Given the description of an element on the screen output the (x, y) to click on. 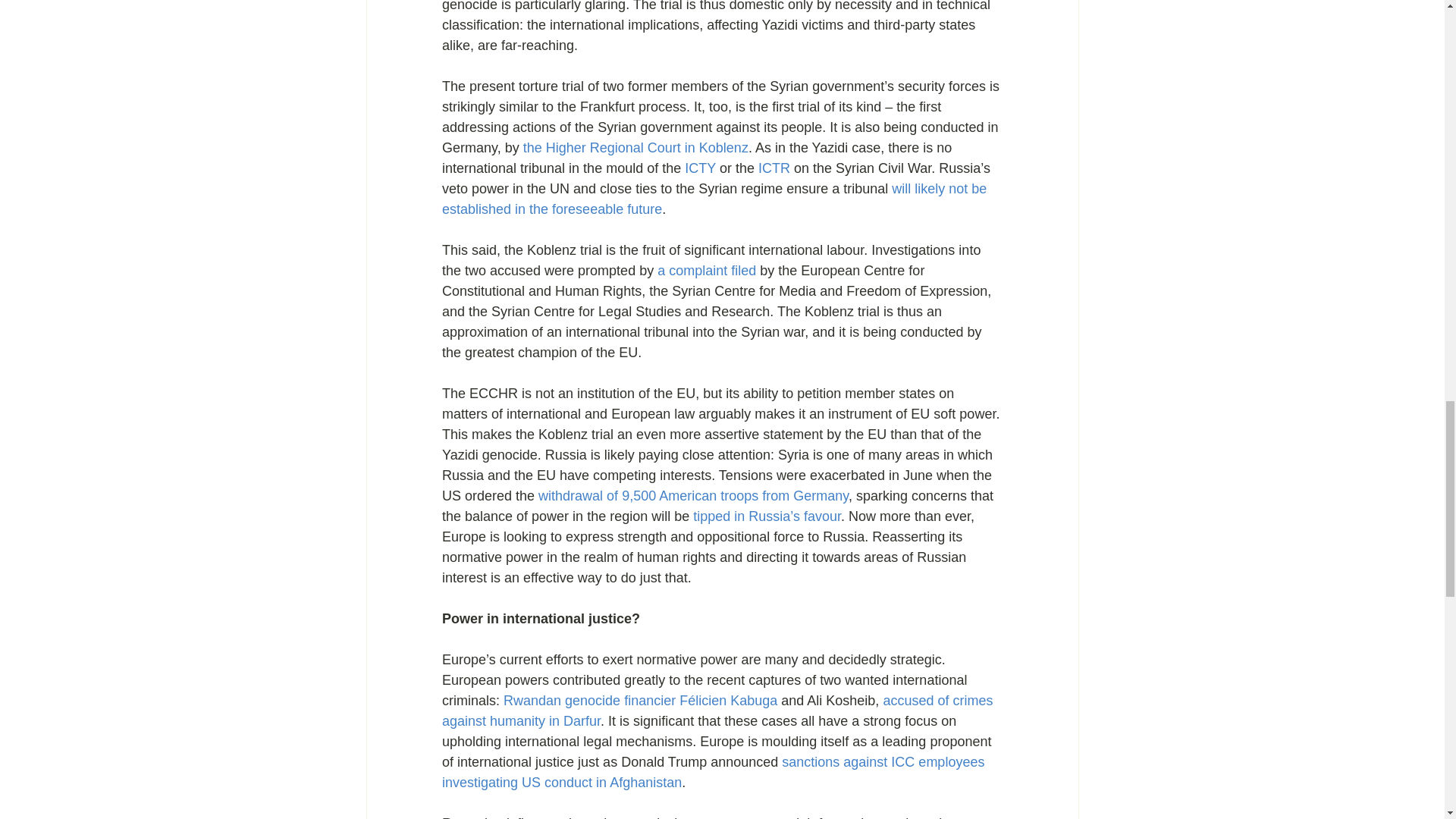
the Higher Regional Court in Koblenz (635, 147)
ICTY (700, 168)
withdrawal of 9,500 American troops from Germany (693, 495)
will likely not be established in the foreseeable future (715, 198)
ICTR (773, 168)
accused of crimes against humanity in Darfur (718, 710)
a complaint filed (706, 270)
